Given the description of an element on the screen output the (x, y) to click on. 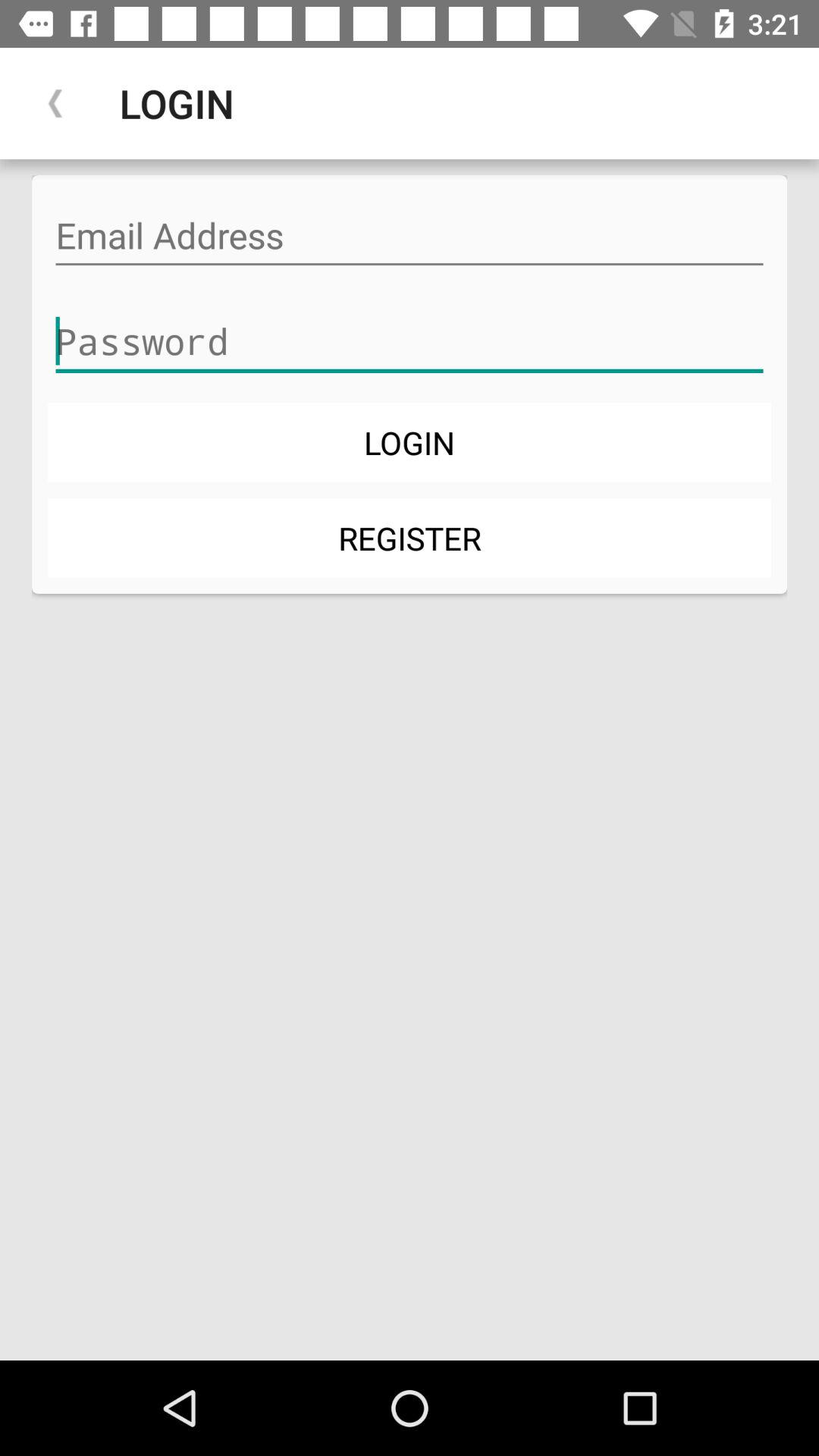
open app to the left of login icon (55, 103)
